Given the description of an element on the screen output the (x, y) to click on. 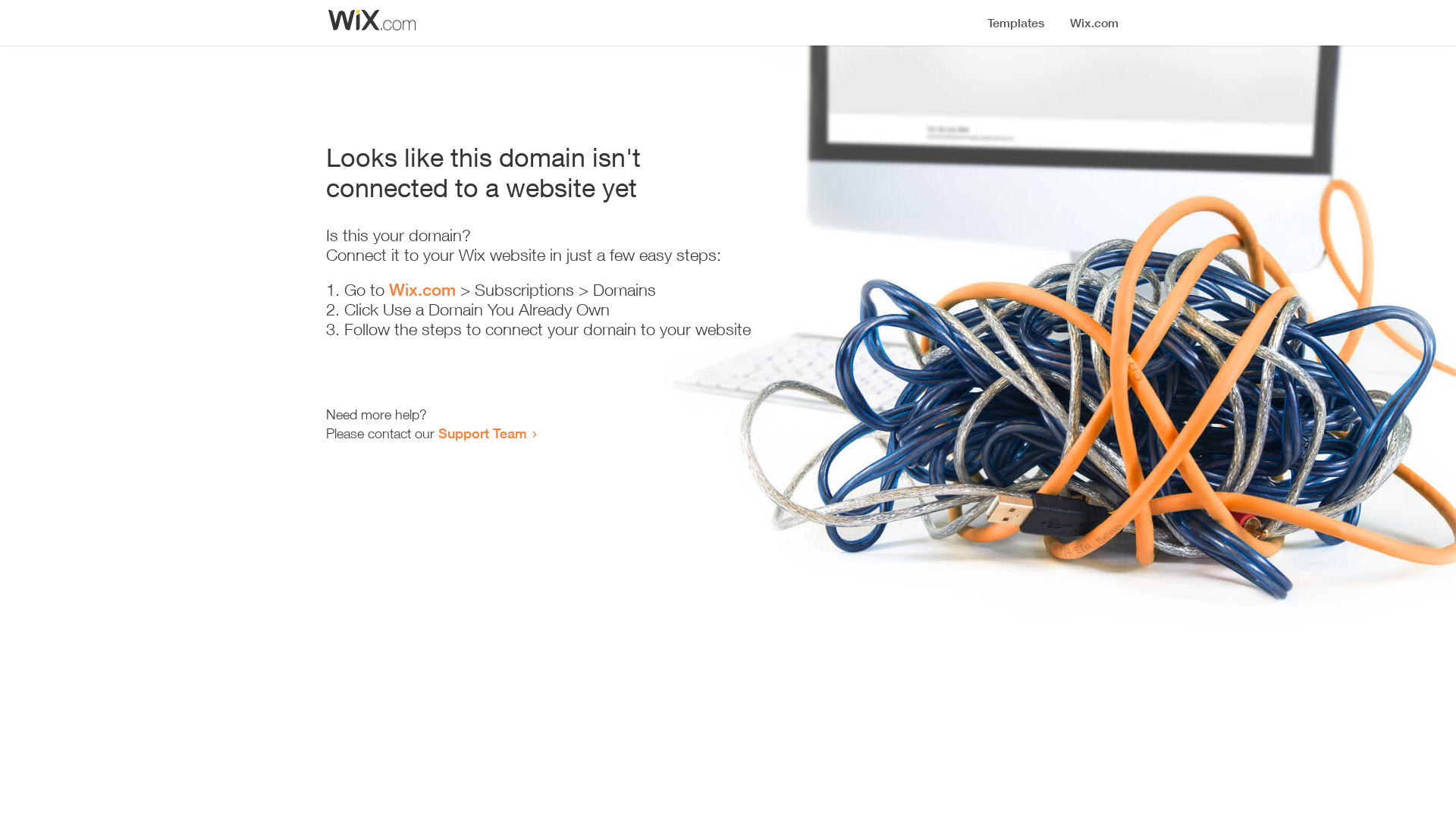
Support Team Element type: text (482, 432)
Wix.com Element type: text (422, 289)
